Given the description of an element on the screen output the (x, y) to click on. 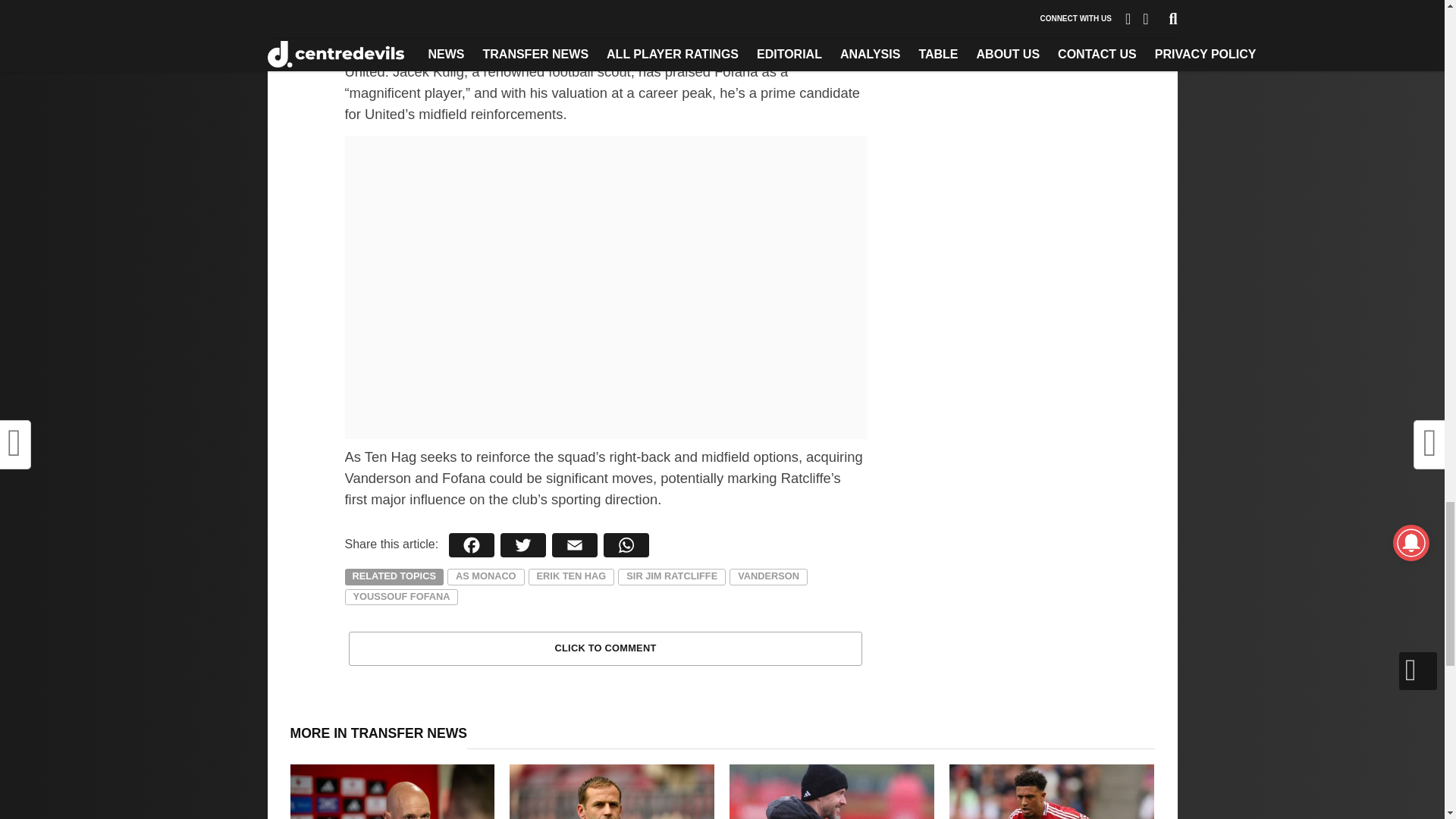
Email (573, 545)
Twitter (522, 545)
YOUSSOUF FOFANA (400, 597)
SIR JIM RATCLIFFE (671, 576)
VANDERSON (768, 576)
Email (573, 545)
Facebook (471, 545)
Twitter (522, 545)
WhatsApp (625, 545)
ERIK TEN HAG (571, 576)
Facebook (471, 545)
WhatsApp (625, 545)
AS MONACO (485, 576)
